Given the description of an element on the screen output the (x, y) to click on. 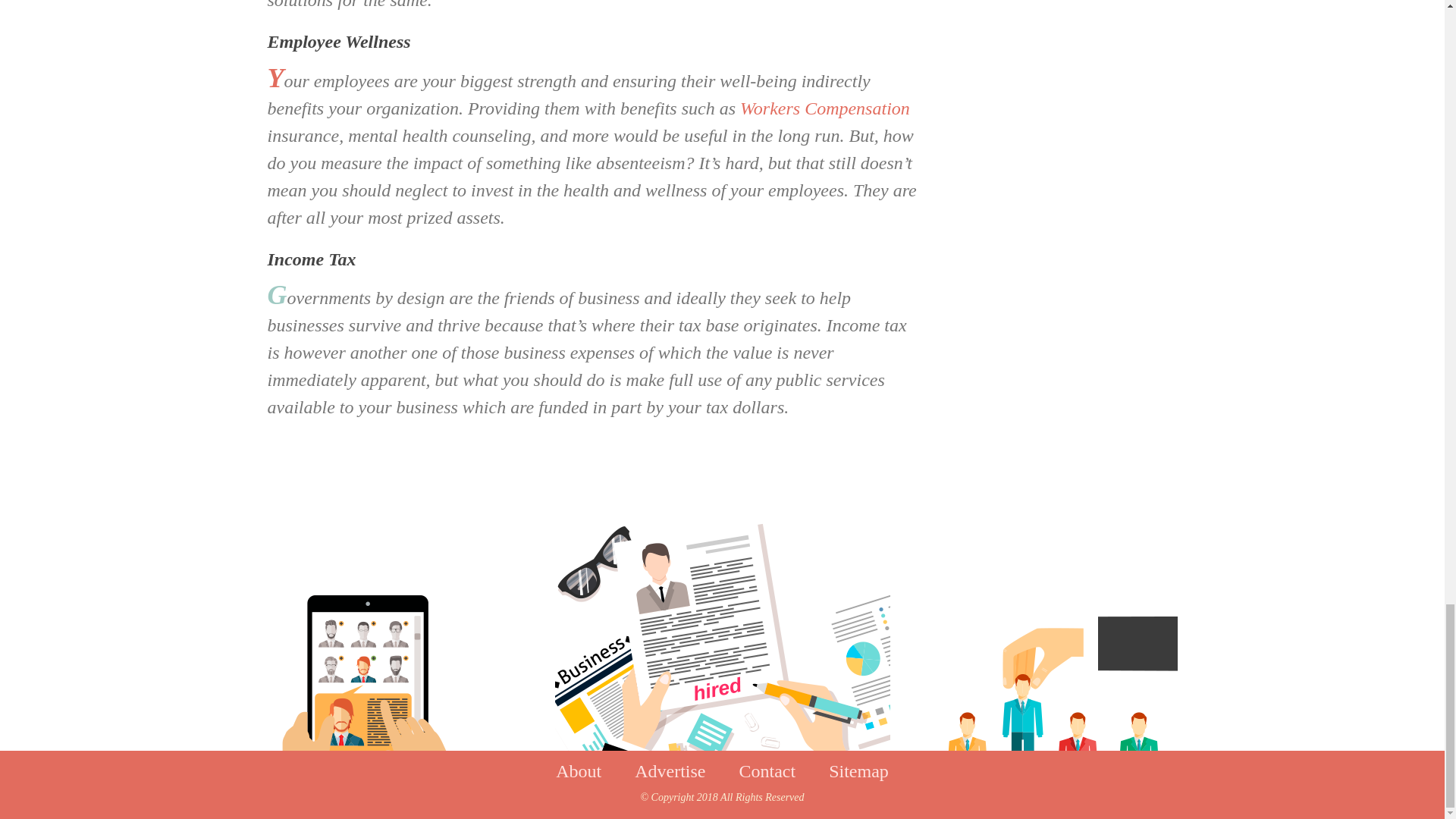
Sitemap (858, 771)
Workers Compensation (824, 107)
About (578, 771)
Advertise (669, 771)
Contact (766, 771)
